Given the description of an element on the screen output the (x, y) to click on. 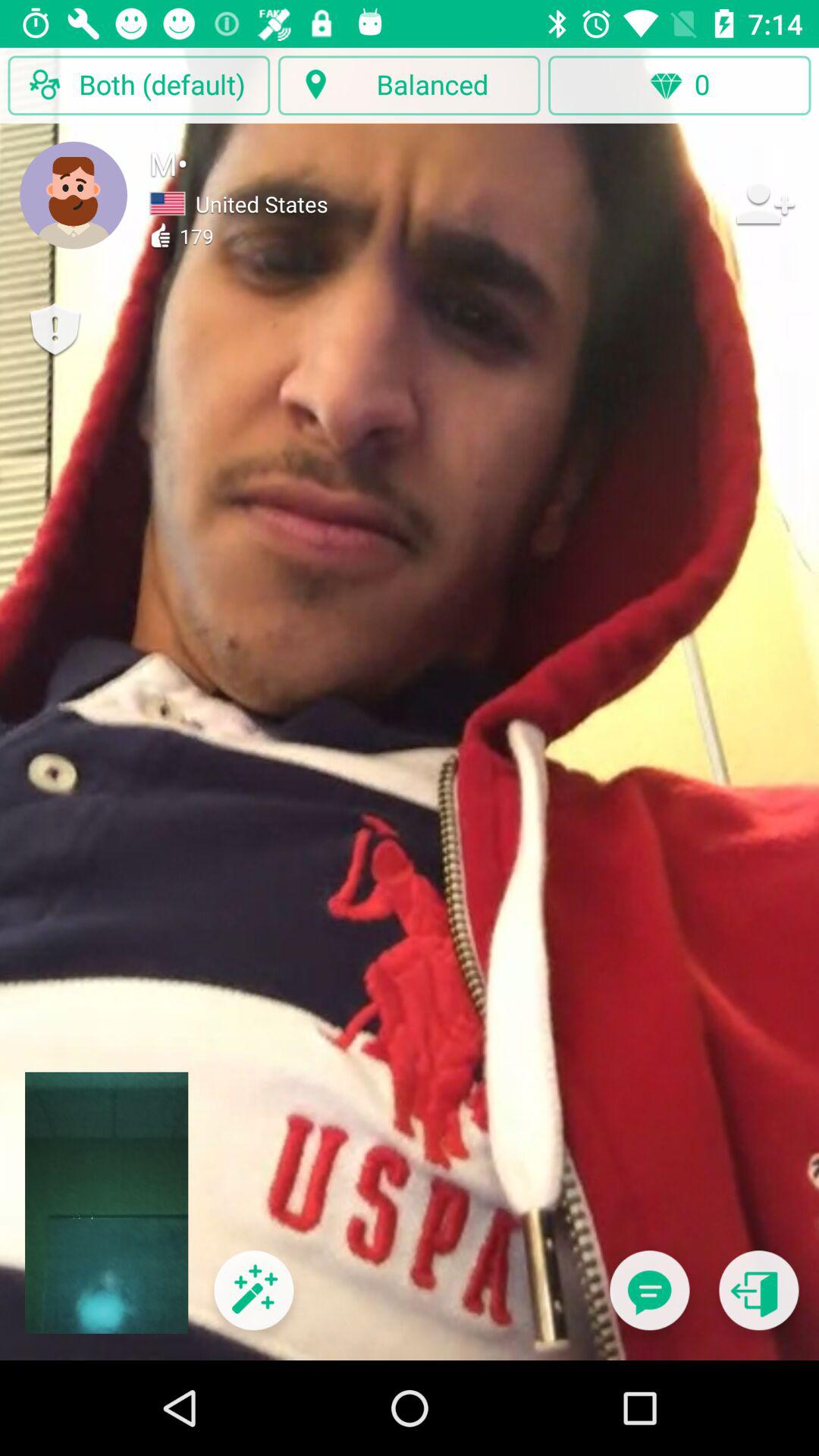
the button is used to talk to an suporter (649, 1300)
